Given the description of an element on the screen output the (x, y) to click on. 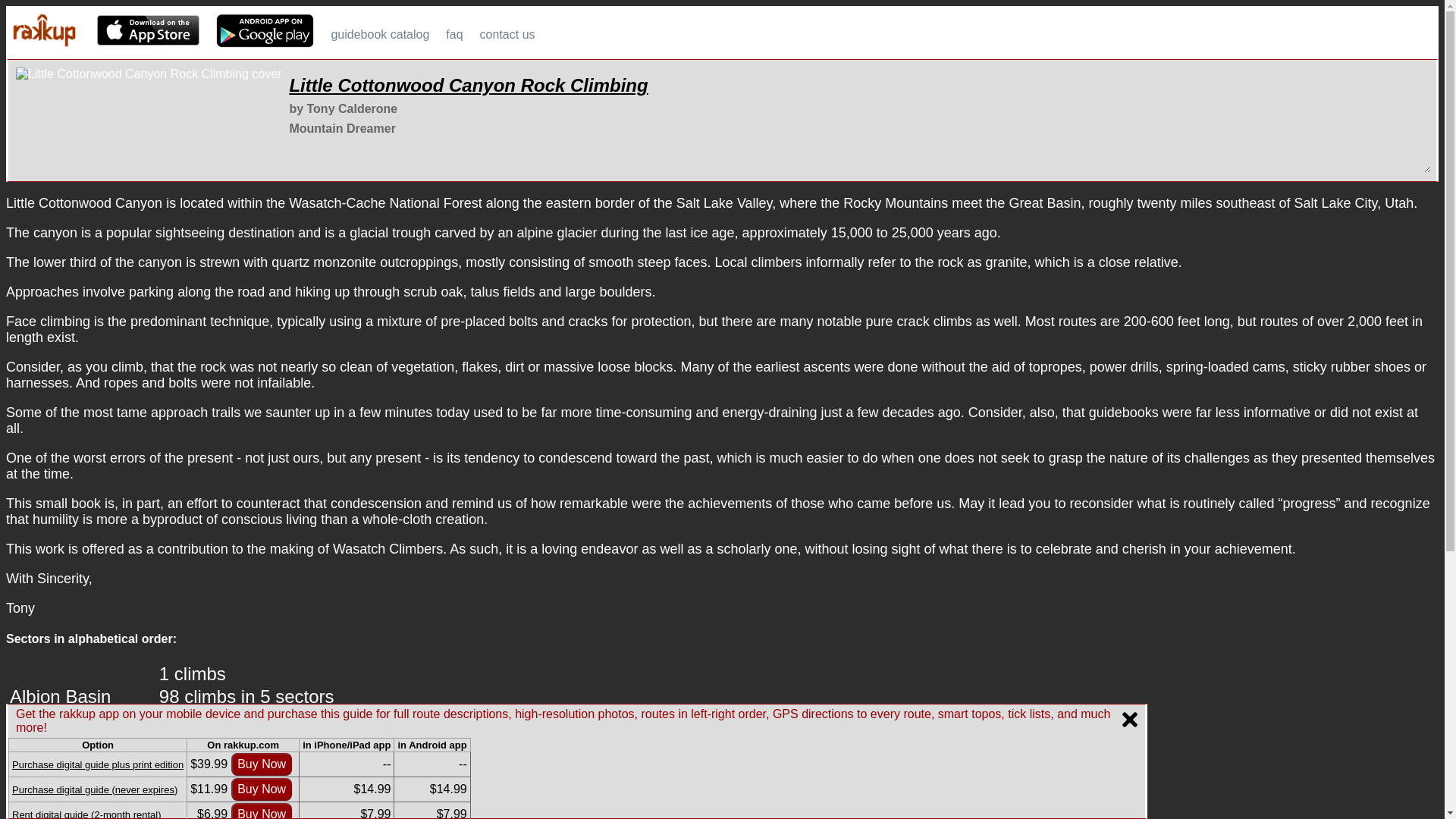
Albion Basin (60, 696)
Shop for Little Cottonwood Canyon Rock Climbing (148, 120)
Black Peeler Area (82, 742)
Buy Now (261, 763)
Gate E (38, 809)
Buy Now (261, 811)
Purchase digital guide plus print edition (97, 763)
guidebook catalog (379, 32)
Little Cottonwood Canyon Rock Climbing (467, 85)
Gate A (37, 764)
Alpenbock Loop (74, 719)
Get rakkup from the App Store (148, 30)
rakkup: Climbing Guides. Reinvented. (43, 30)
Get rakkup for Android on Google Play (264, 30)
Buy Now (261, 789)
